Given the description of an element on the screen output the (x, y) to click on. 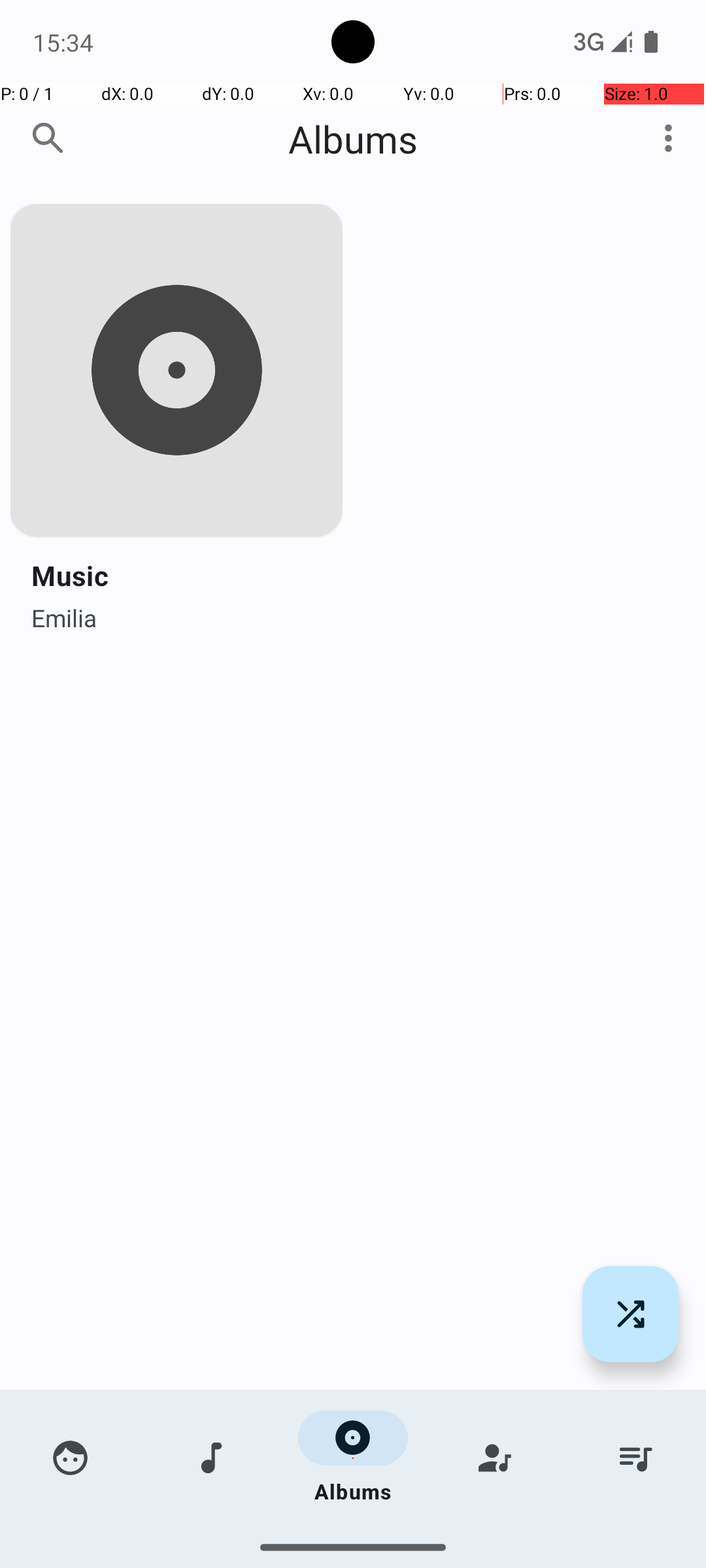
Music Element type: android.widget.TextView (69, 574)
Emilia Element type: android.widget.TextView (63, 613)
